Given the description of an element on the screen output the (x, y) to click on. 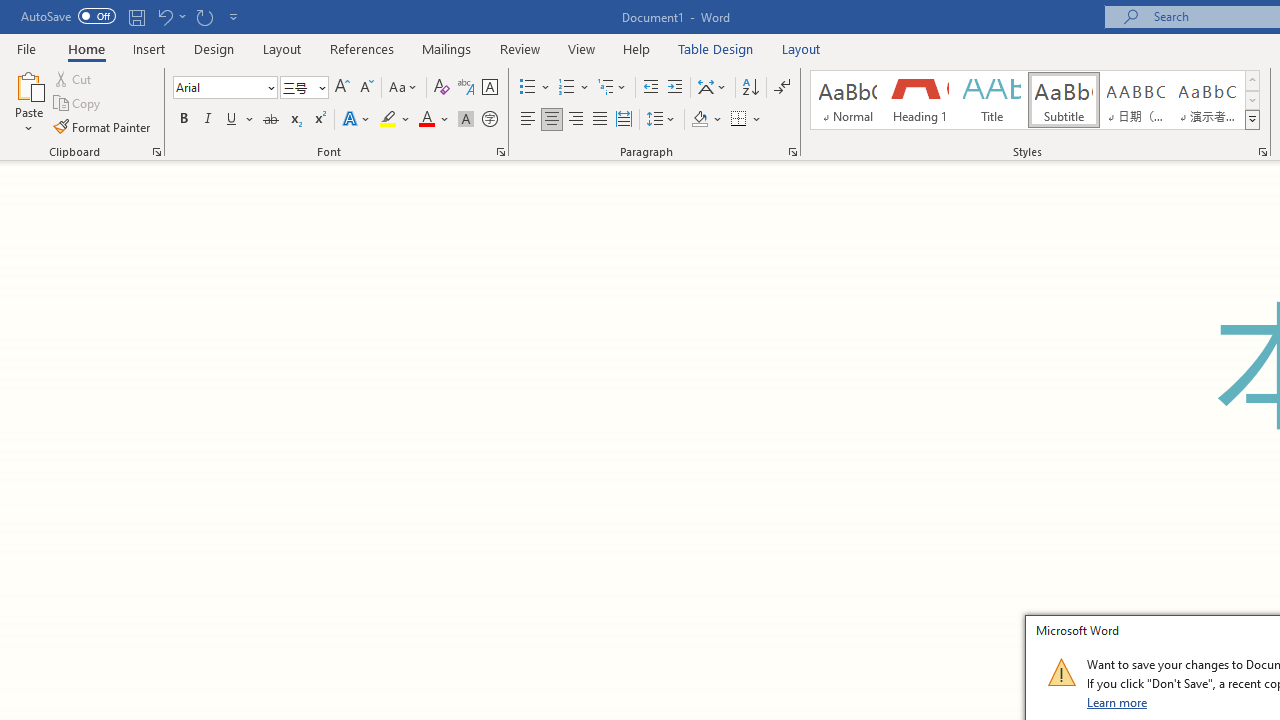
Undo Paste (170, 15)
